Given the description of an element on the screen output the (x, y) to click on. 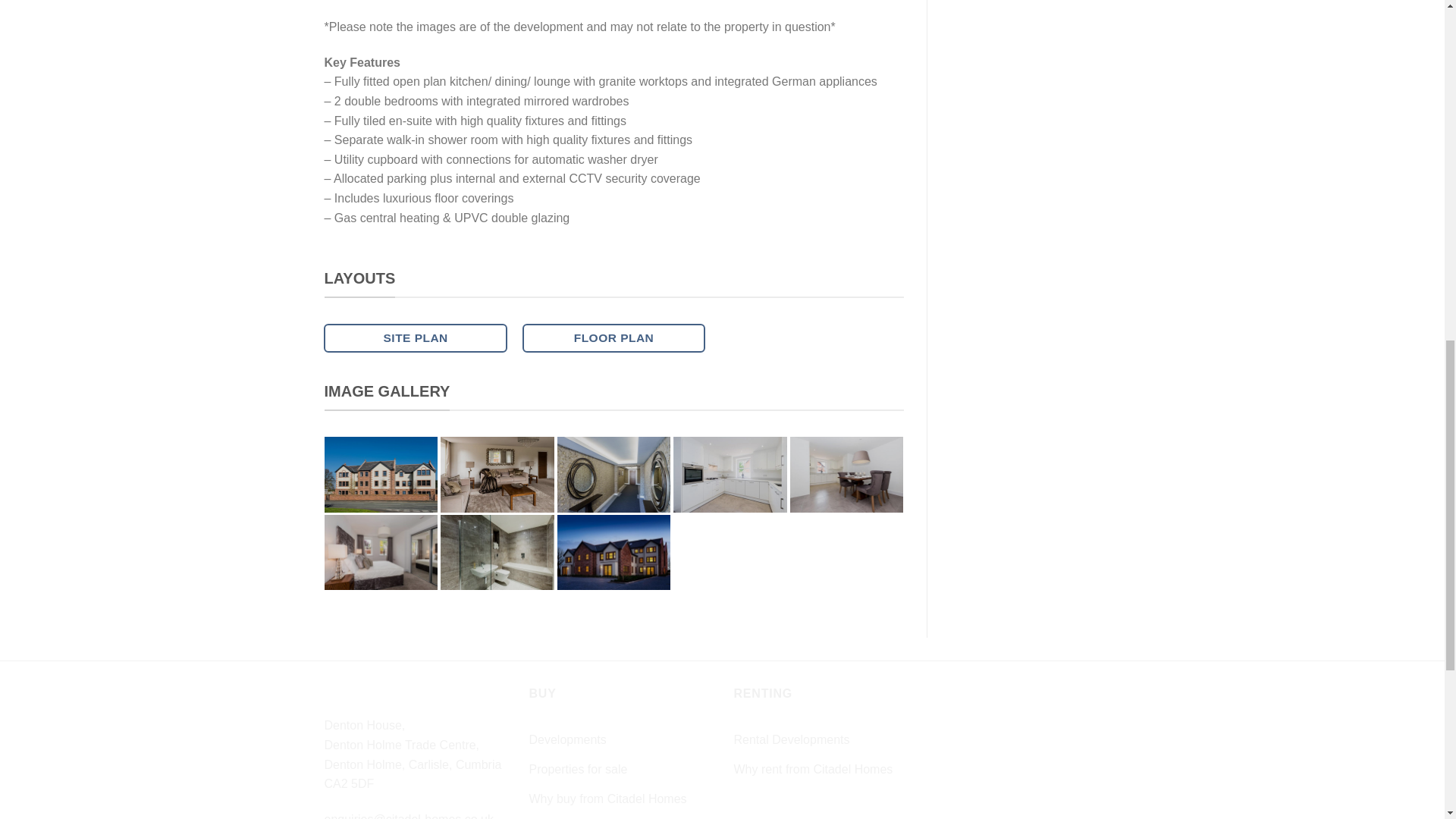
FLOOR PLAN (614, 337)
Why rent from Citadel Homes (813, 769)
SITE PLAN (414, 337)
Rental Developments (791, 739)
Properties for sale (578, 769)
Developments (568, 739)
Why buy from Citadel Homes (608, 799)
